Given the description of an element on the screen output the (x, y) to click on. 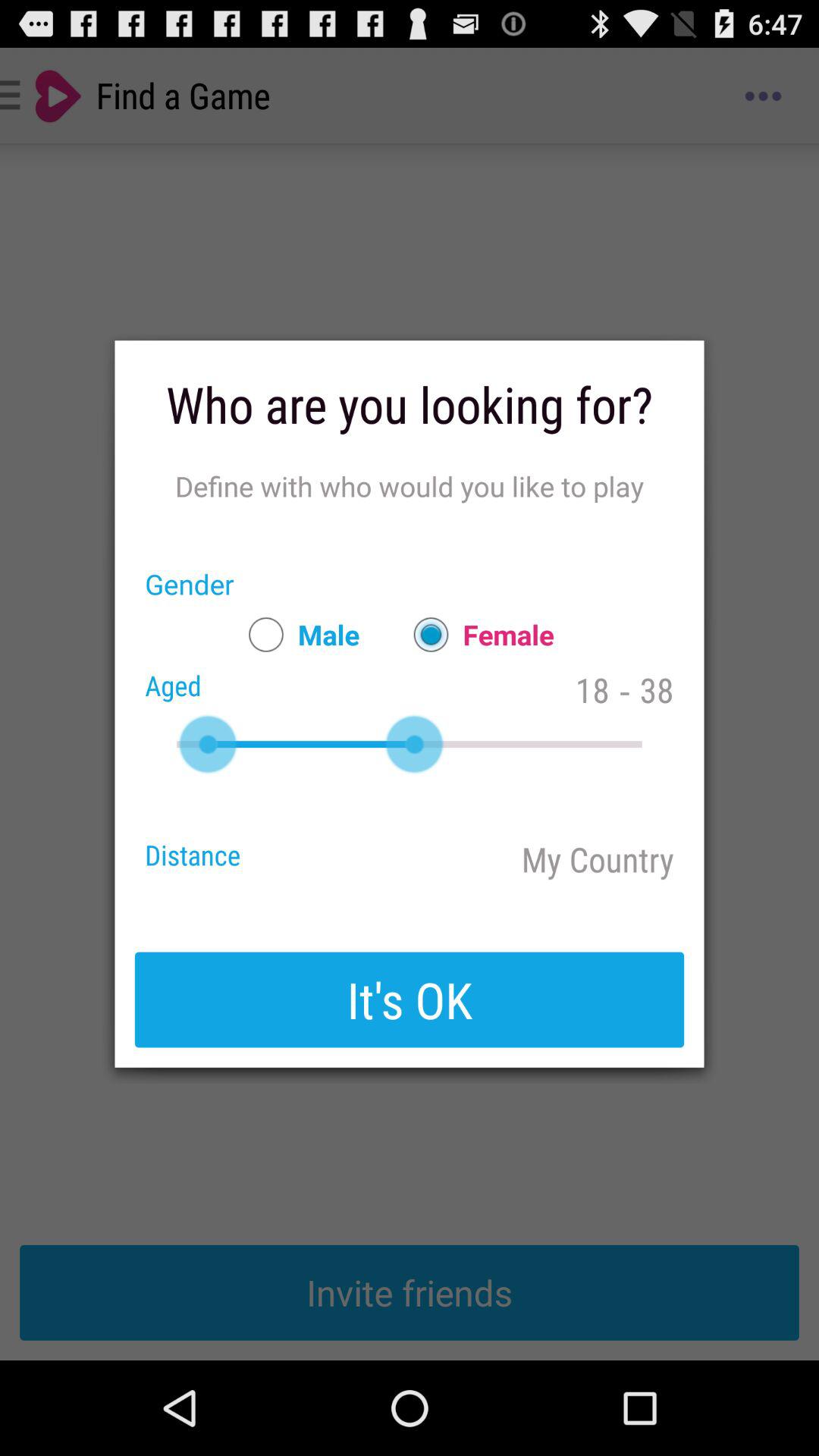
launch the female item (476, 634)
